Given the description of an element on the screen output the (x, y) to click on. 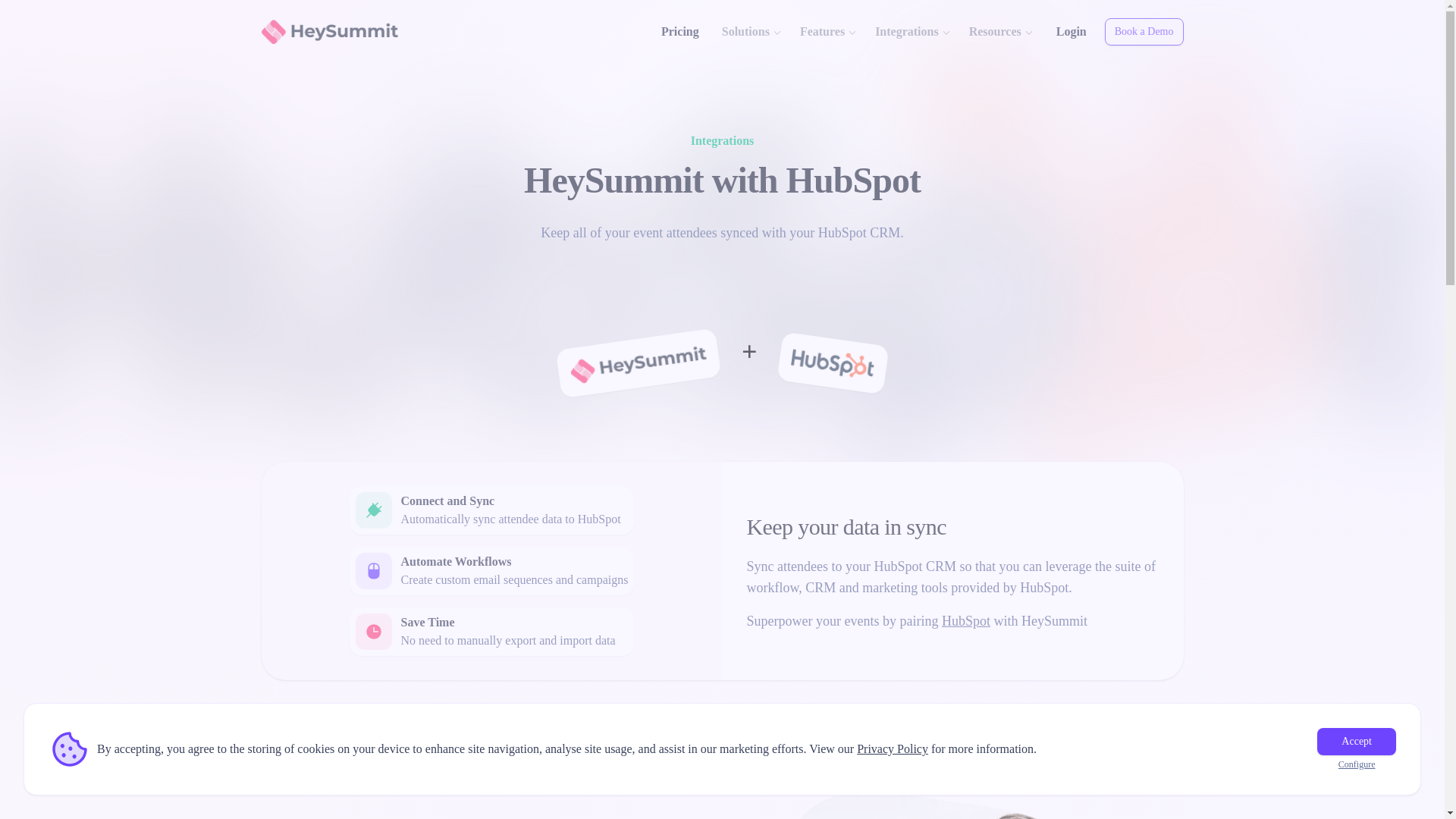
Login (1071, 31)
HubSpot (966, 620)
Features (828, 31)
Pricing (680, 31)
Integrations (912, 31)
Resources (1000, 31)
Solutions (751, 31)
Book a Demo (1144, 31)
HeySummit (328, 31)
